Given the description of an element on the screen output the (x, y) to click on. 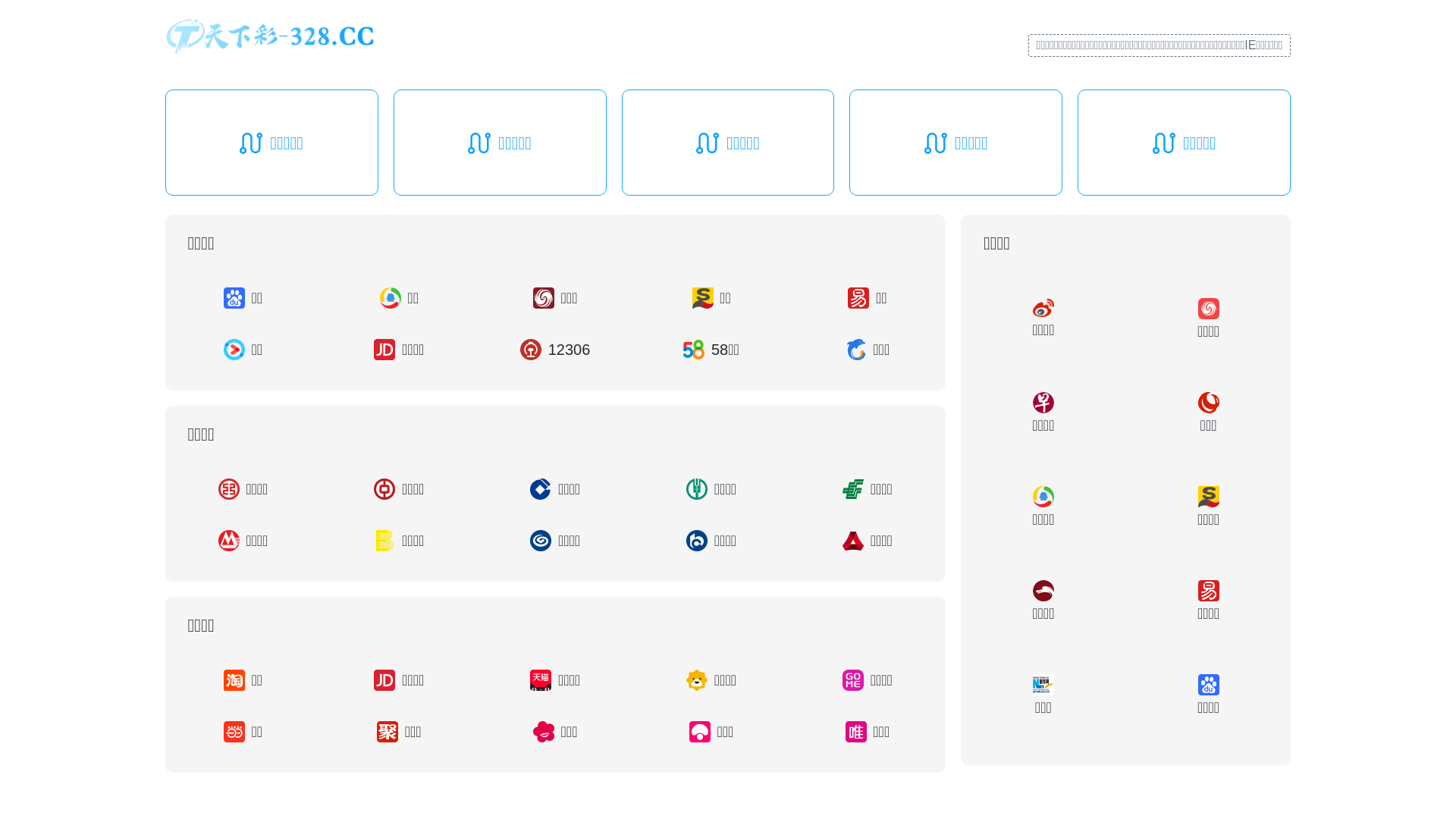
12306 Element type: text (554, 349)
